Given the description of an element on the screen output the (x, y) to click on. 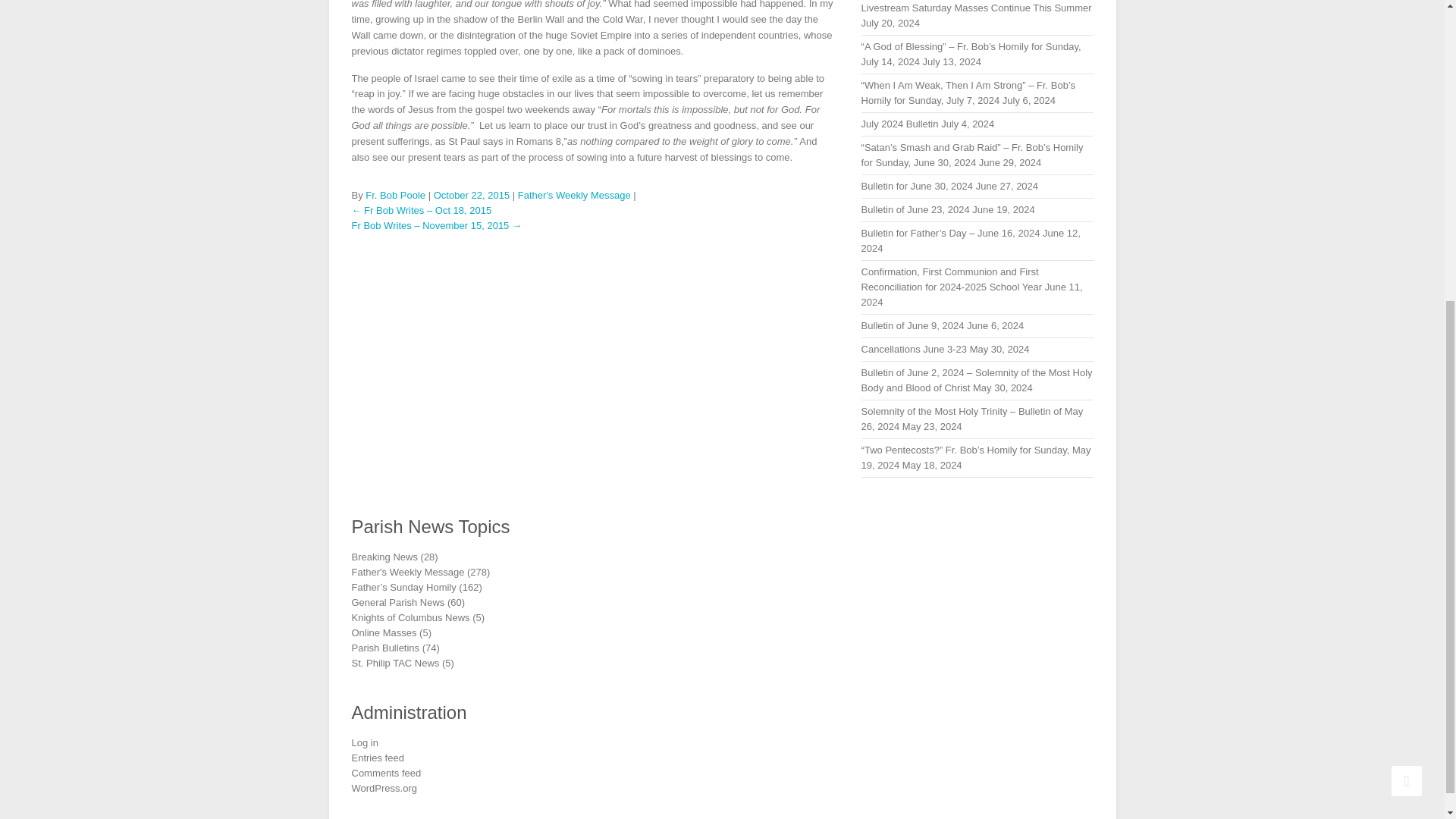
Bulletin for June 30, 2024 (916, 185)
Fr. Bob Poole (395, 194)
Bulletin of June 9, 2024 (912, 325)
Cancellations June 3-23 (913, 348)
October 22, 2015 (471, 194)
Father's Weekly Message (574, 194)
July 2024 Bulletin (900, 123)
Livestream Saturday Masses Continue This Summer (976, 7)
1:46 pm (471, 194)
Bulletin of June 23, 2024 (915, 209)
